Given the description of an element on the screen output the (x, y) to click on. 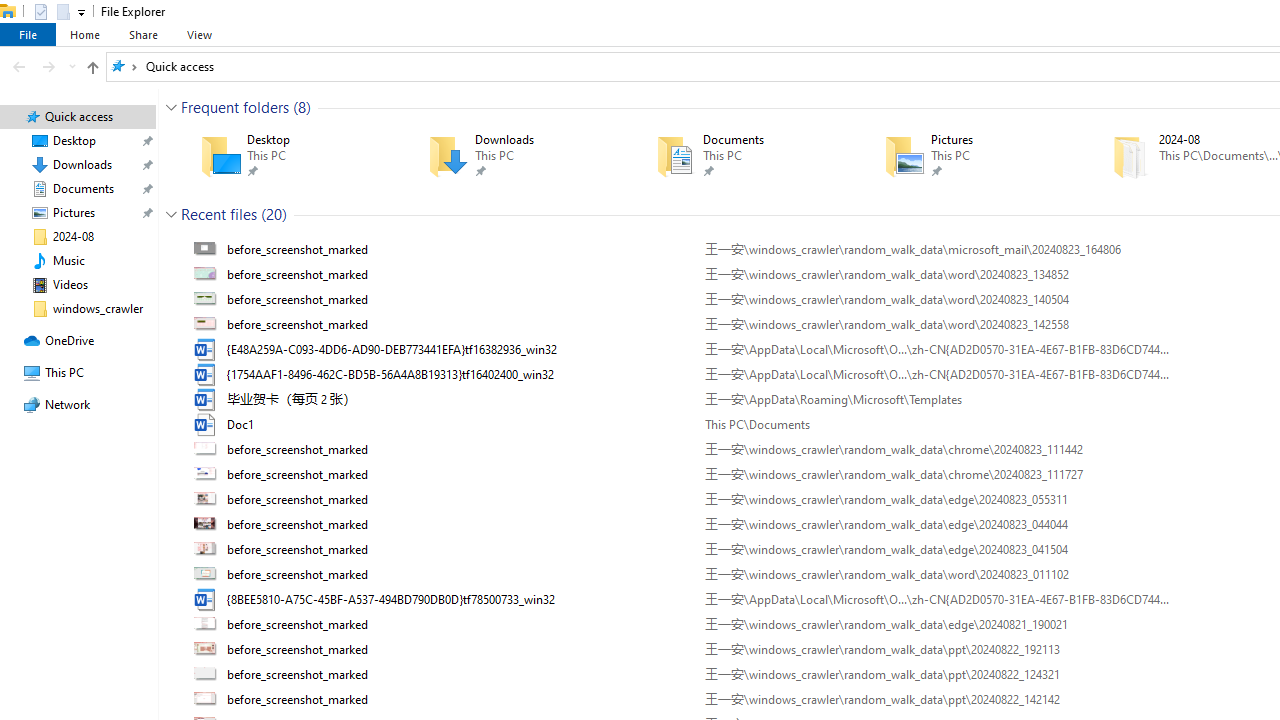
Recent locations (71, 66)
Navigation buttons (41, 66)
Pinned (1003, 170)
Up band toolbar (92, 70)
Pictures (969, 156)
Path (936, 699)
Back (Alt + Left Arrow) (18, 66)
Documents (741, 156)
Forward (Alt + Right Arrow) (49, 66)
File tab (28, 34)
Quick access (179, 65)
Desktop (286, 156)
Up to "Desktop" (Alt + Up Arrow) (92, 67)
Downloads (513, 156)
Collapse Group (171, 213)
